Given the description of an element on the screen output the (x, y) to click on. 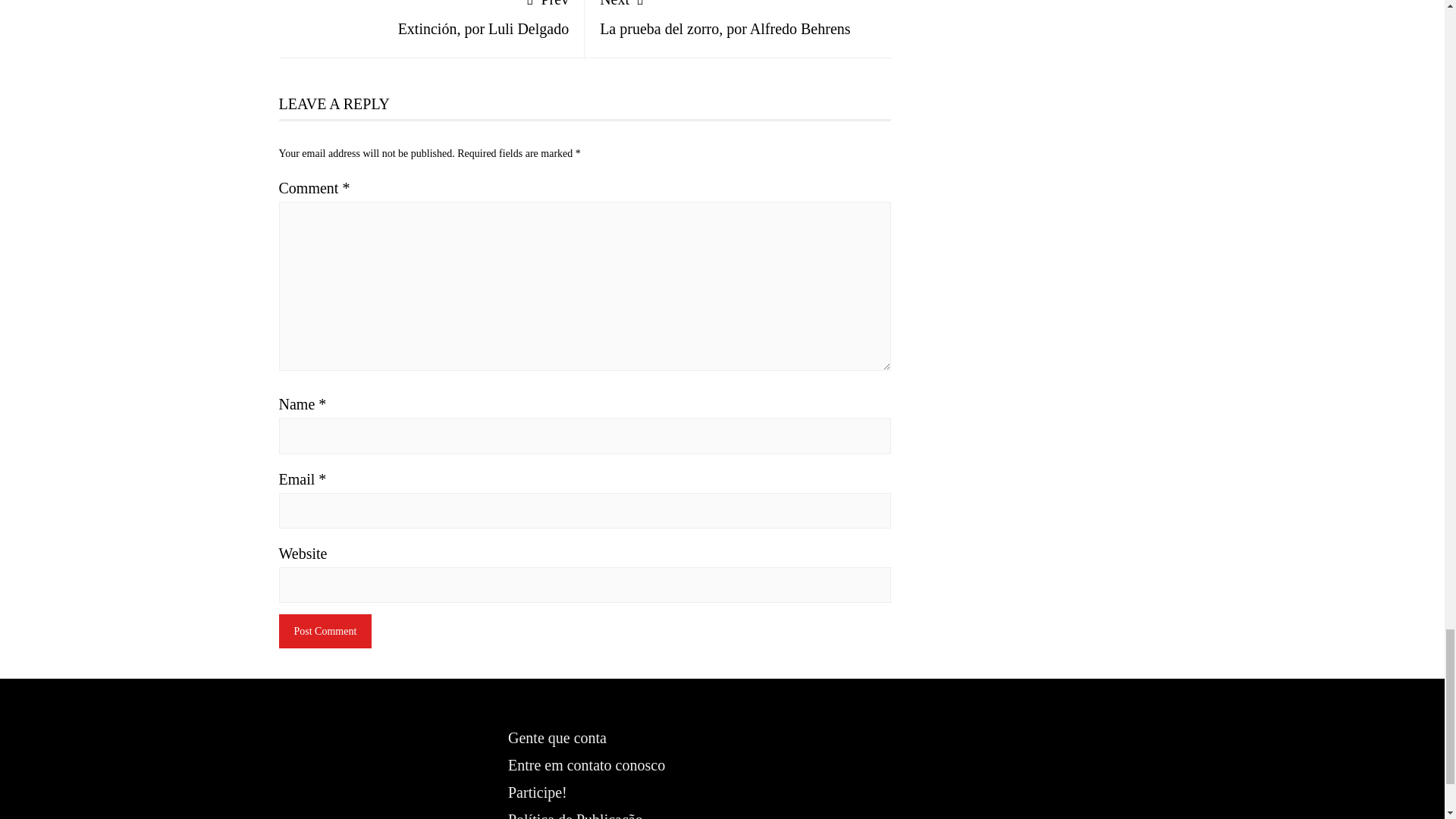
Post Comment (325, 631)
Gente que conta (557, 737)
Post Comment (737, 18)
